Given the description of an element on the screen output the (x, y) to click on. 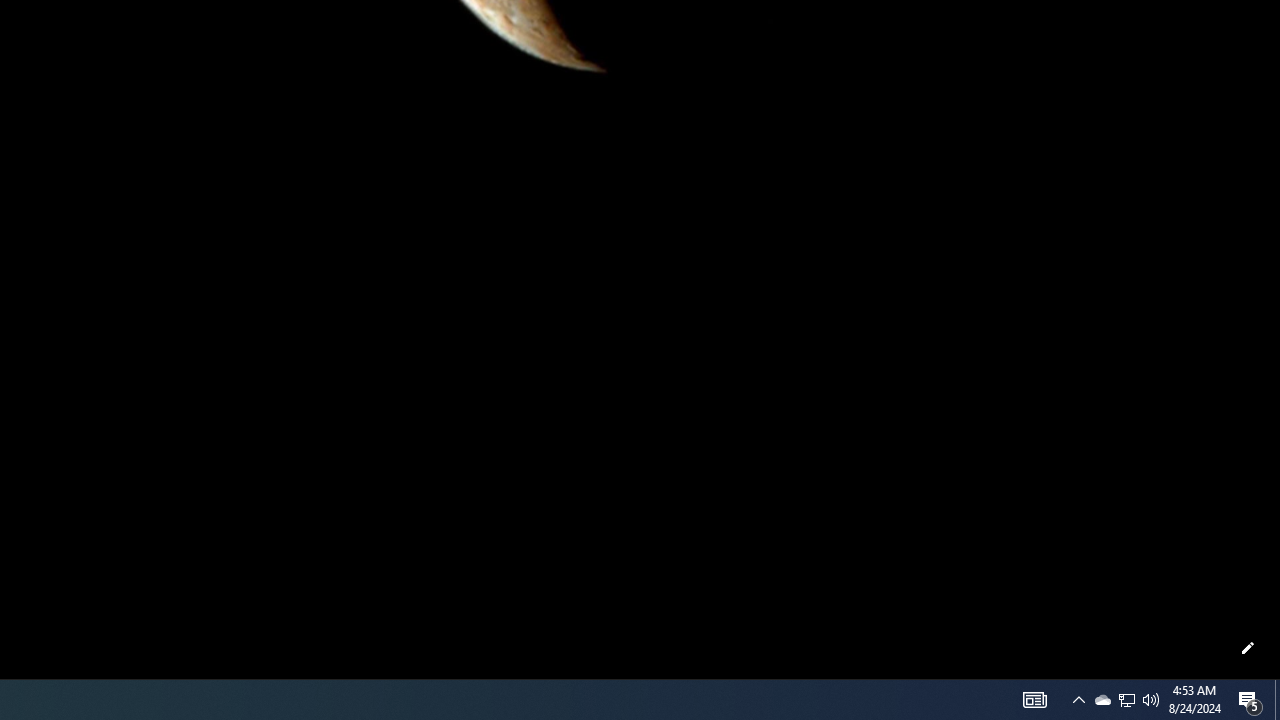
Customize this page (1247, 647)
